Given the description of an element on the screen output the (x, y) to click on. 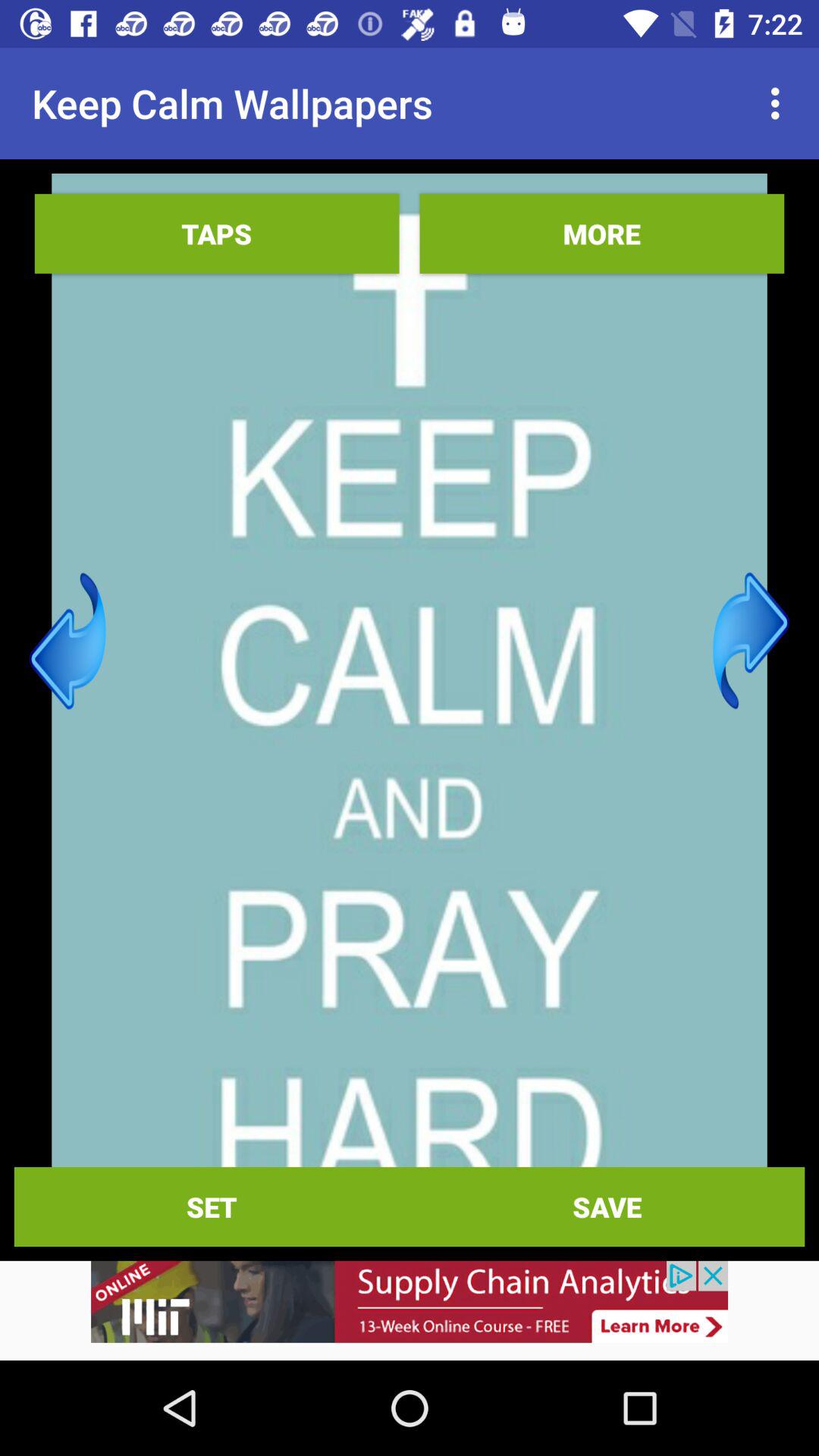
go to next (750, 640)
